Given the description of an element on the screen output the (x, y) to click on. 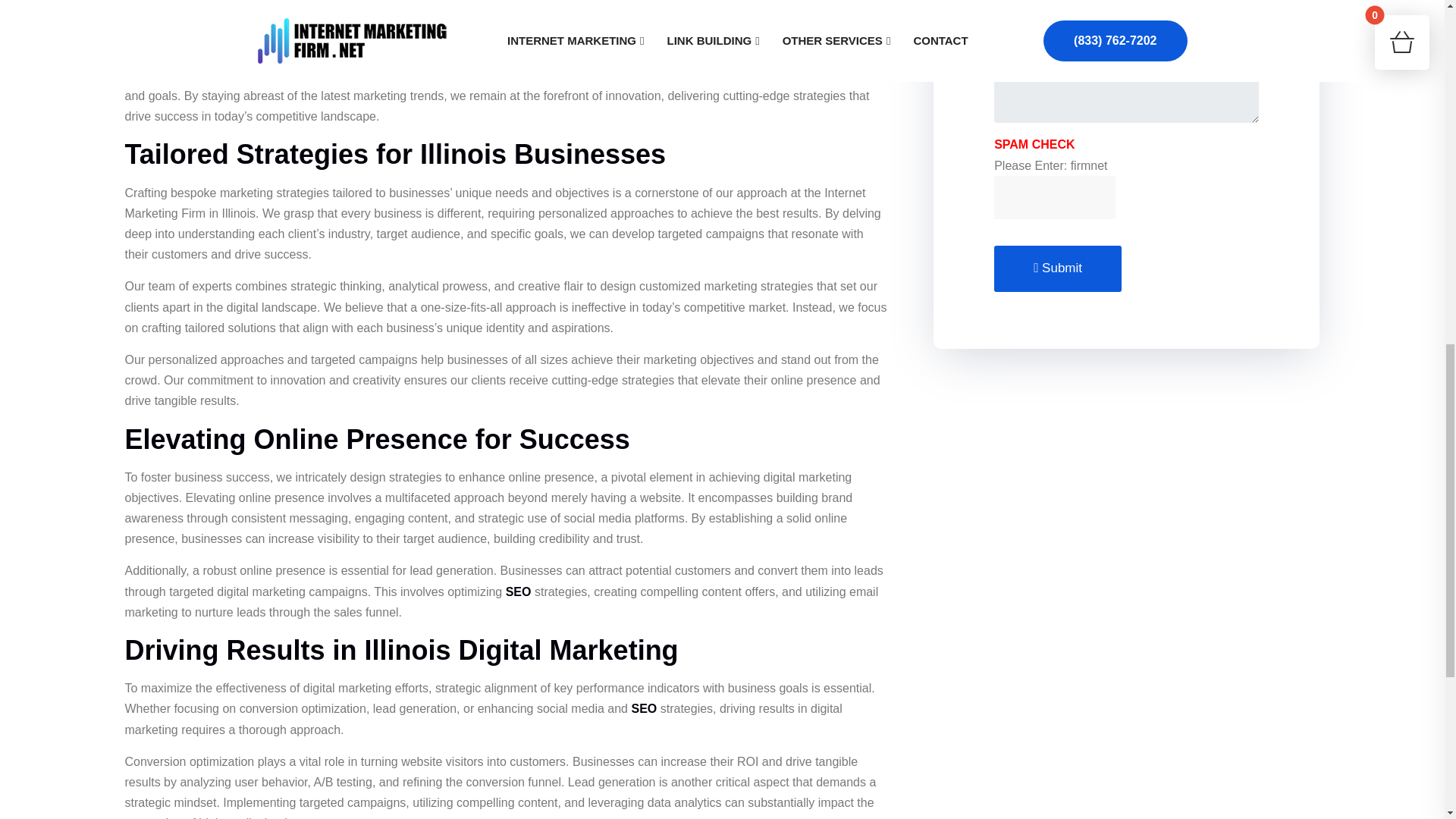
SEO (643, 707)
SEO (518, 591)
